Given the description of an element on the screen output the (x, y) to click on. 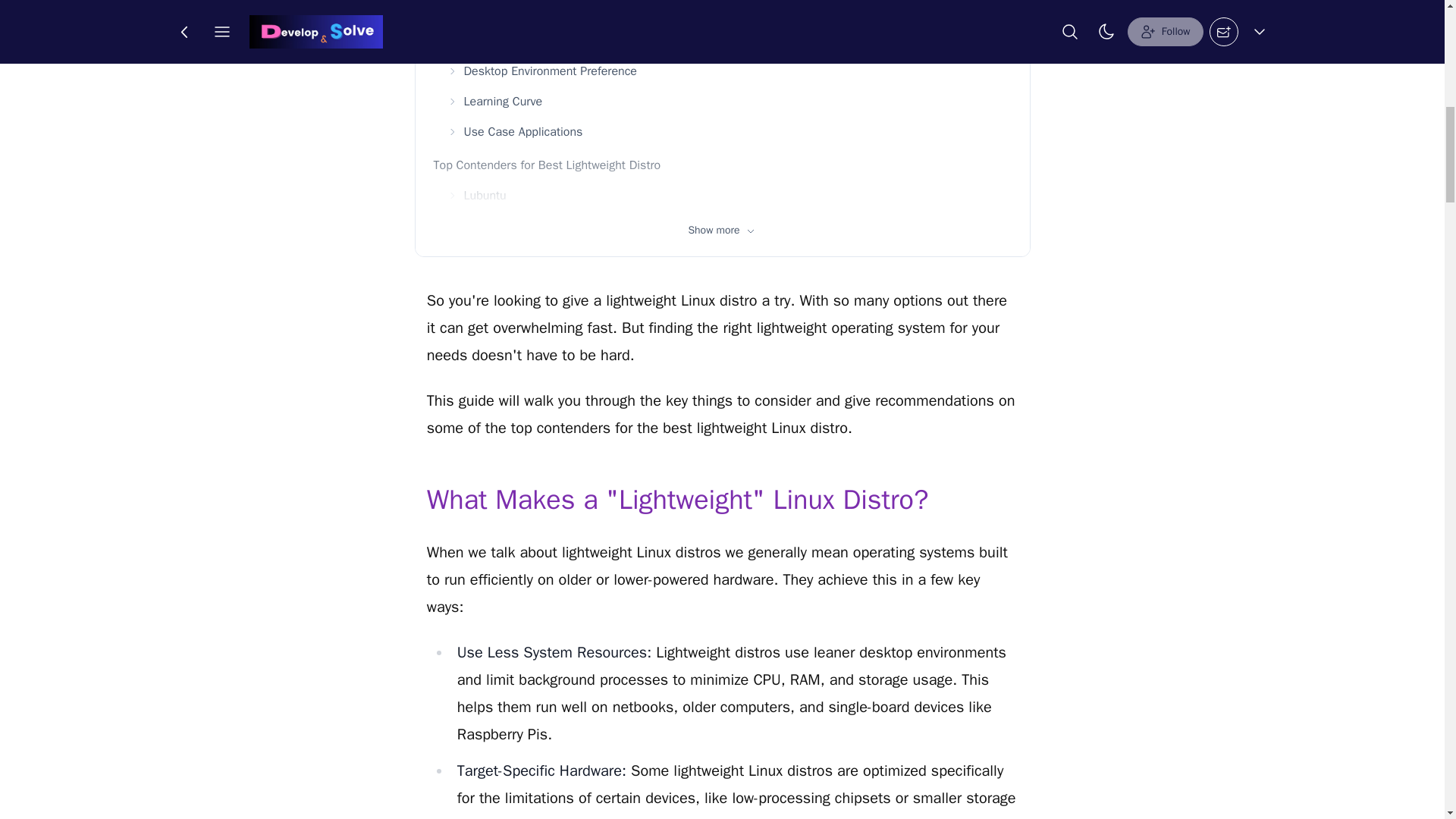
Use Case Applications (728, 132)
Learning Curve (728, 101)
Xubuntu (728, 225)
Add Bookmark (744, 24)
Desktop Environment Preference (728, 71)
Lubuntu (728, 195)
Show more (721, 230)
Top Contenders for Best Lightweight Distro (722, 164)
Hardware Compatibility (728, 40)
Key Factors to Consider (722, 12)
